Given the description of an element on the screen output the (x, y) to click on. 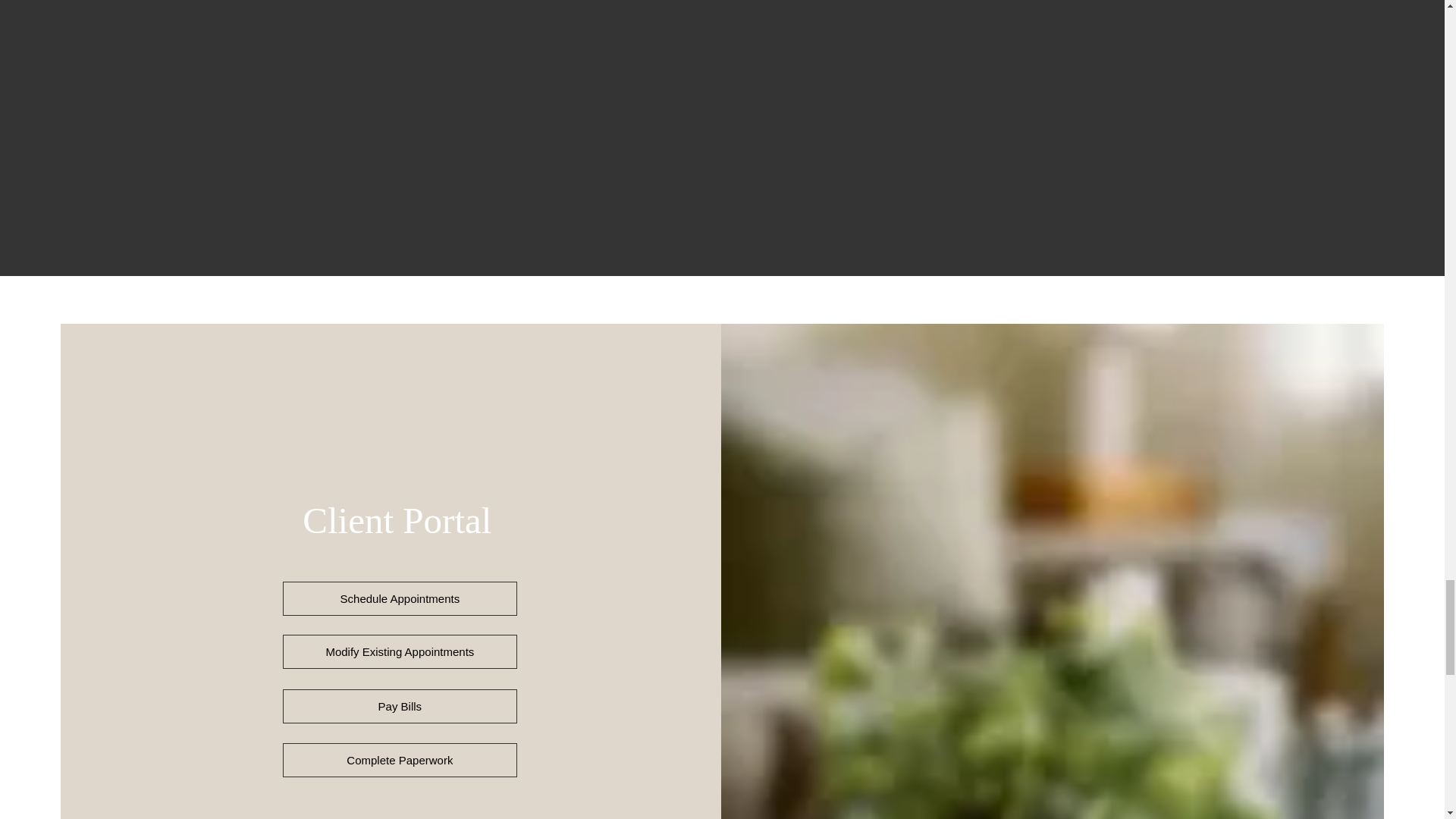
Schedule Appointments (399, 598)
Pay Bills (399, 706)
Complete Paperwork (399, 759)
Modify Existing Appointments (399, 651)
